Given the description of an element on the screen output the (x, y) to click on. 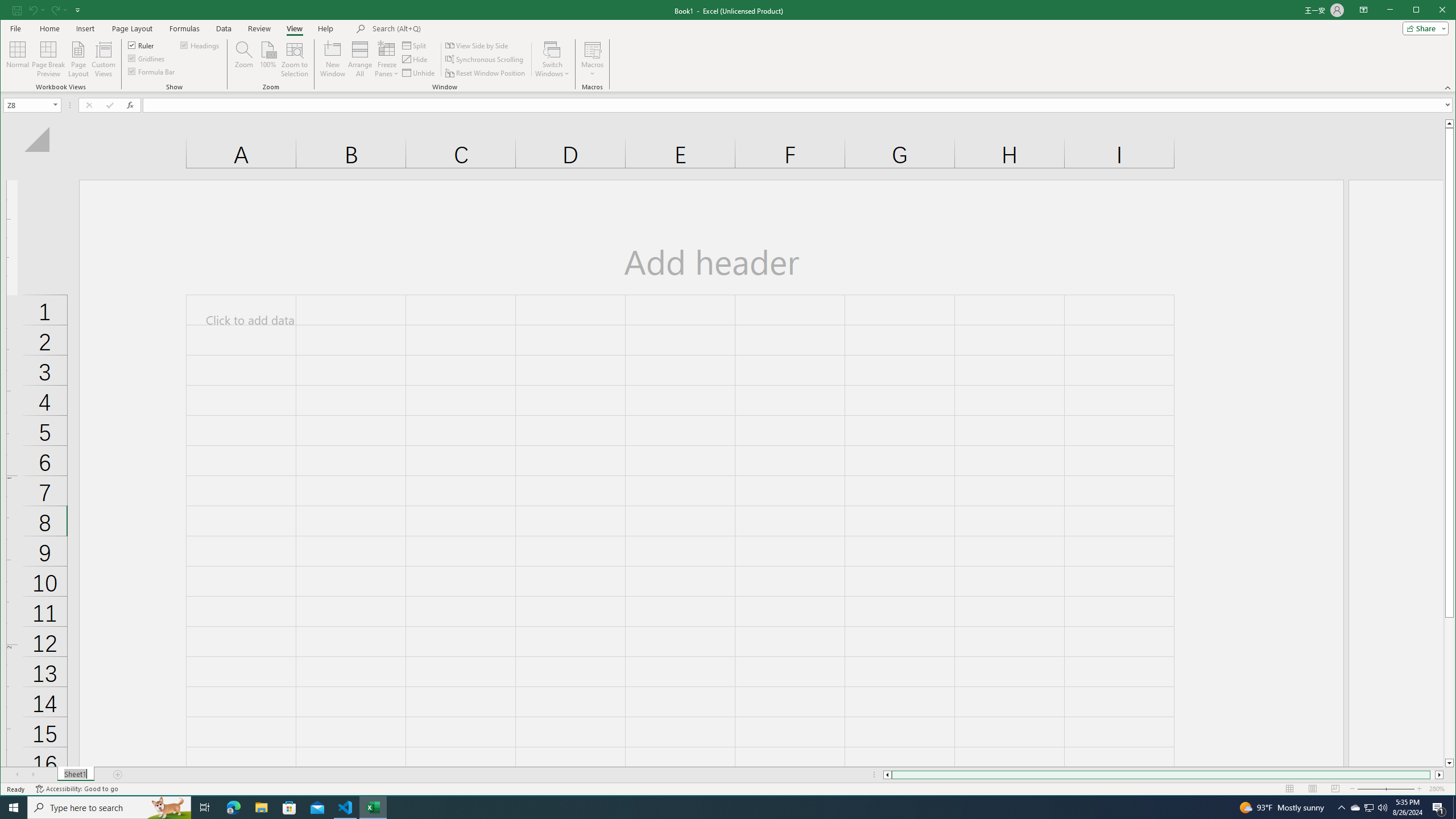
Unhide... (419, 72)
Freeze Panes (387, 59)
Show desktop (1454, 807)
Visual Studio Code - 1 running window (345, 807)
Synchronous Scrolling (485, 59)
